Given the description of an element on the screen output the (x, y) to click on. 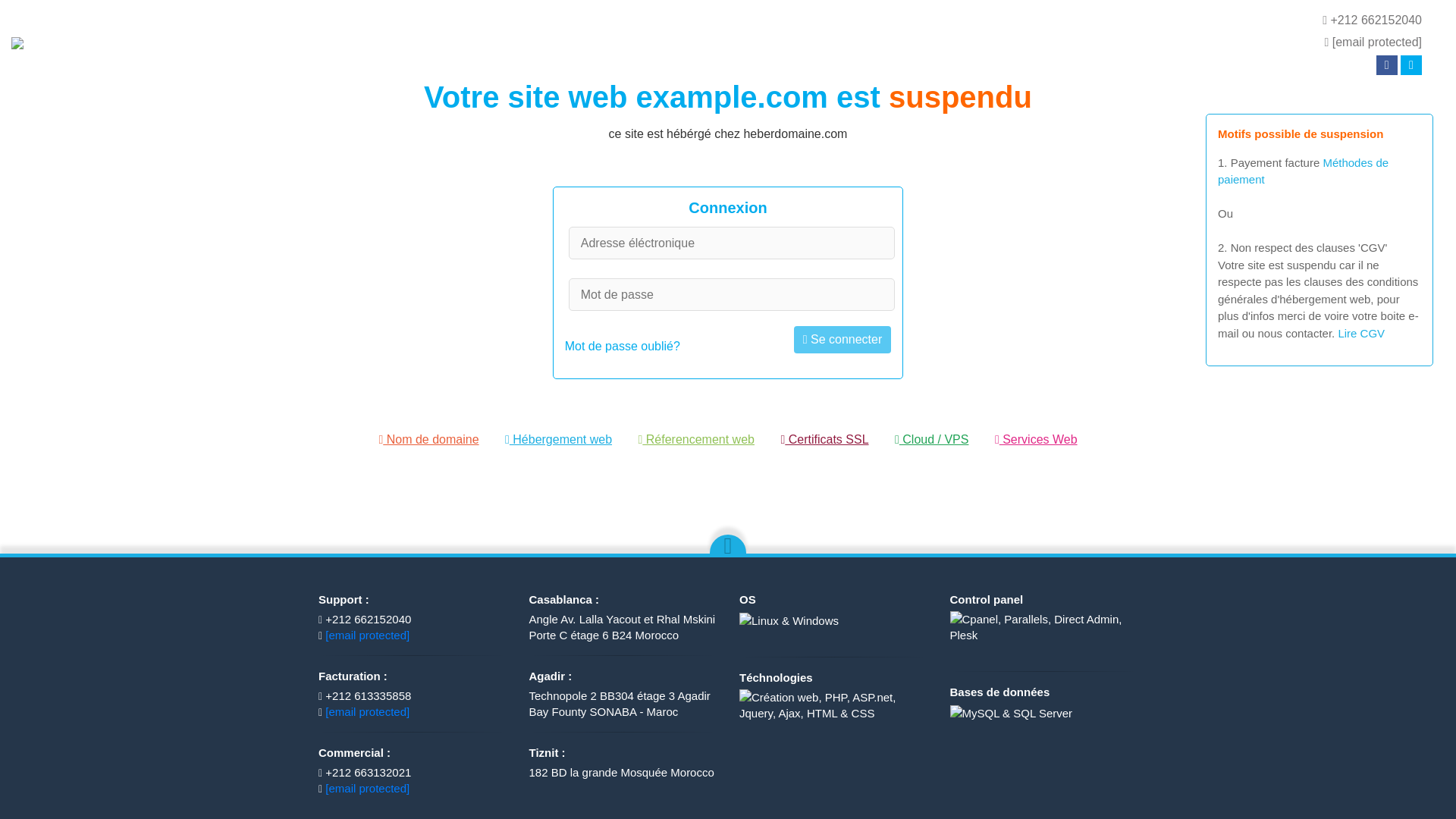
Nom de domaine (428, 439)
Lire CGV (1361, 332)
Certificats SSL (824, 439)
Se connecter (842, 338)
Services Web (1035, 439)
